Given the description of an element on the screen output the (x, y) to click on. 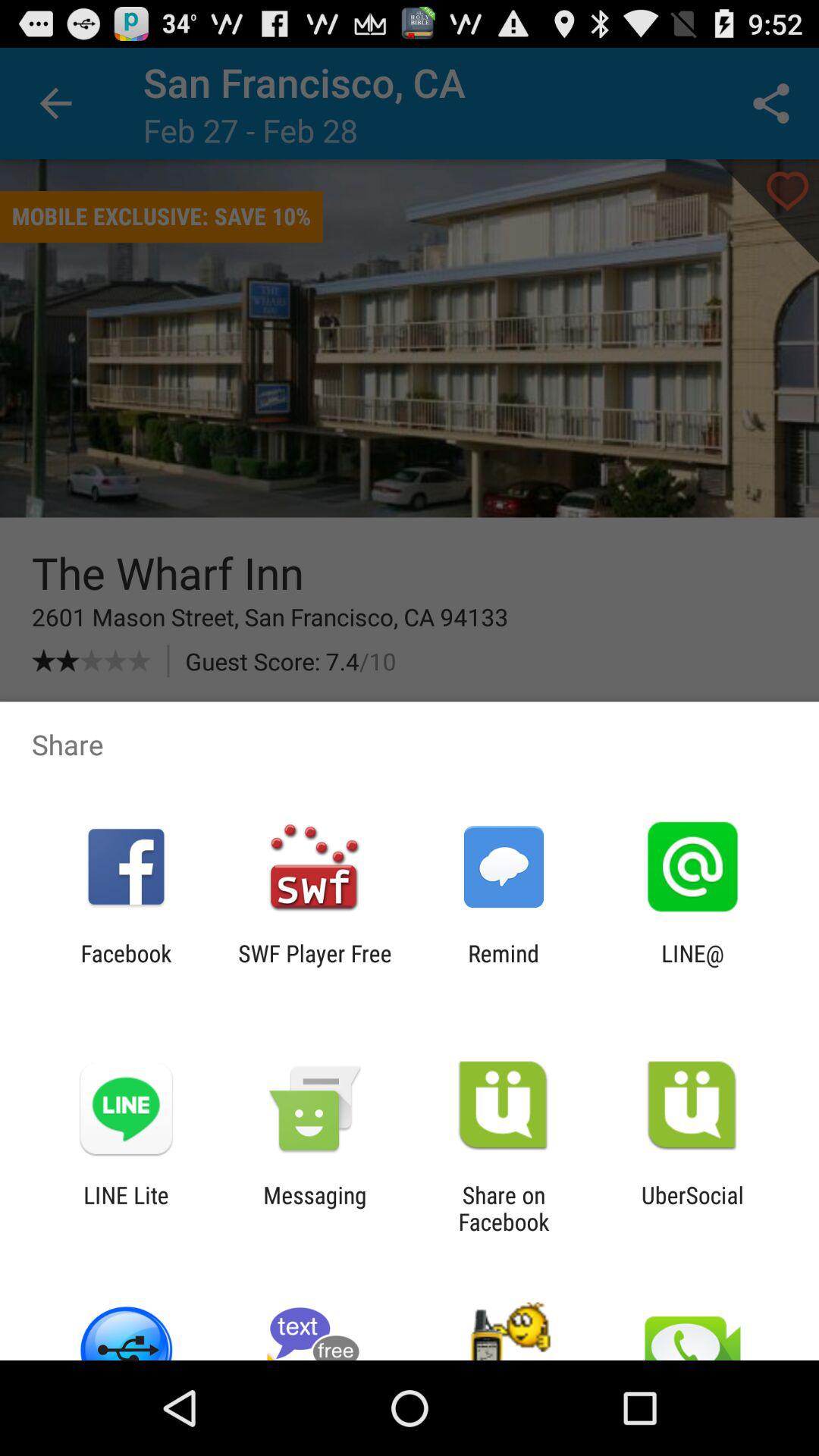
select app to the right of the swf player free icon (503, 966)
